Given the description of an element on the screen output the (x, y) to click on. 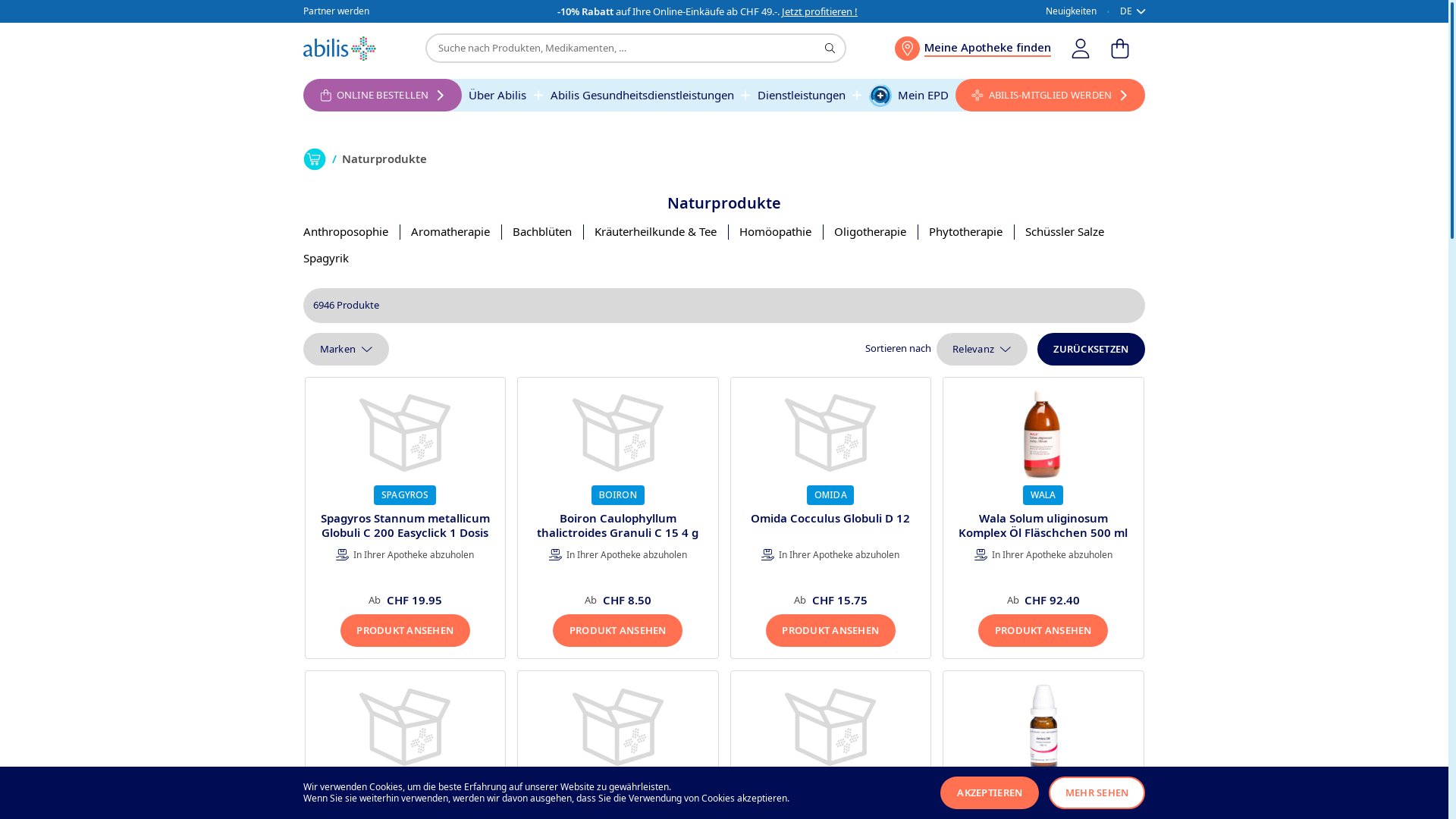
Phytotherapie Element type: text (965, 231)
Boiron Caulophyllum thalictroides Granuli C 15 4 g Element type: text (617, 525)
Anthroposophie Element type: text (345, 231)
Marken Element type: text (346, 348)
PRODUKT ANSEHEN Element type: text (617, 630)
Aromatherapie Element type: text (450, 231)
Spagyros Stannum metallicum Globuli C 200 Easyclick 1 Dosis Element type: text (404, 525)
Relevanz Element type: text (981, 348)
PRODUKT ANSEHEN Element type: text (1042, 630)
Omida Cocculus Globuli D 12 Element type: text (830, 517)
Oligotherapie Element type: text (870, 231)
AKZEPTIEREN Element type: text (989, 792)
Spagyrik Element type: text (325, 257)
Meine Apotheke finden Element type: text (972, 48)
ABILIS-MITGLIED WERDEN Element type: text (1050, 94)
PRODUKT ANSEHEN Element type: text (830, 630)
Jetzt profitieren ! Element type: text (819, 11)
Partner werden Element type: text (336, 11)
ONLINE BESTELLEN Element type: text (382, 94)
MEHR SEHEN Element type: text (1096, 792)
Neuigkeiten Element type: text (1070, 11)
Mein EPD Element type: text (908, 94)
PRODUKT ANSEHEN Element type: text (405, 630)
